Given the description of an element on the screen output the (x, y) to click on. 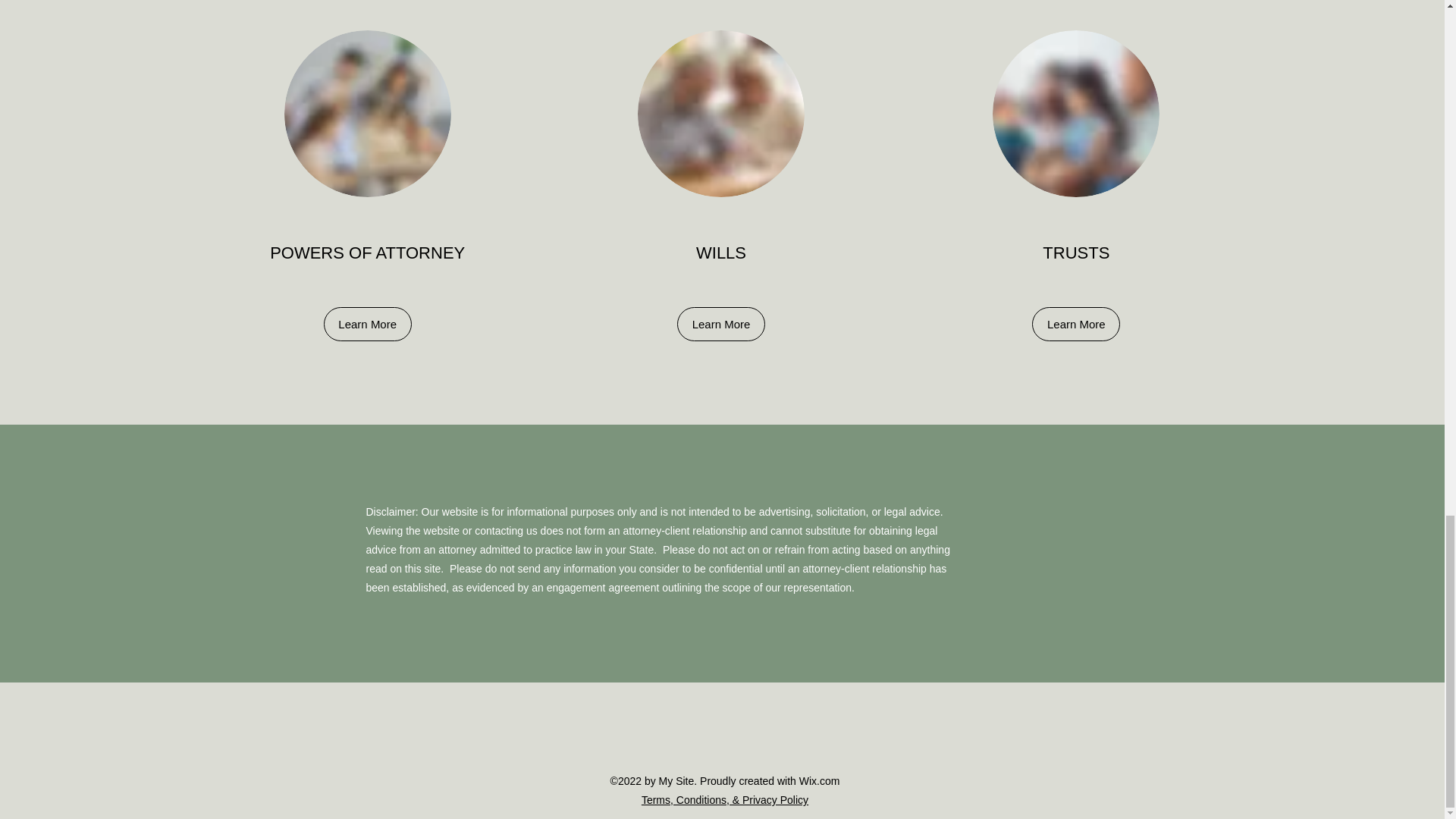
POWERS OF ATTORNEY (366, 252)
Learn More (721, 324)
Learn More (1075, 324)
WILLS (720, 252)
Learn More (367, 324)
TRUSTS (1075, 252)
